Given the description of an element on the screen output the (x, y) to click on. 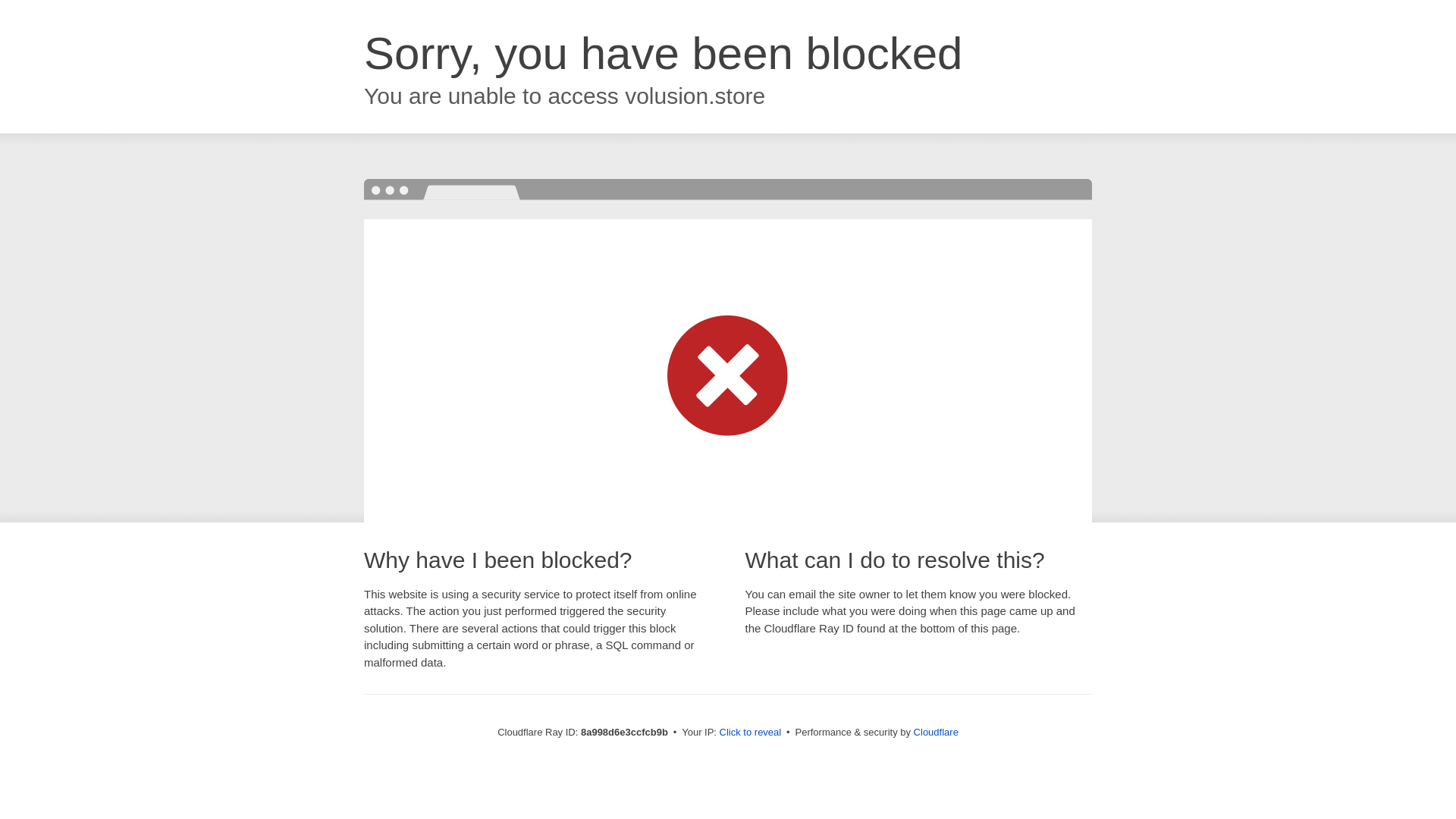
Cloudflare (936, 731)
Click to reveal (750, 732)
